Given the description of an element on the screen output the (x, y) to click on. 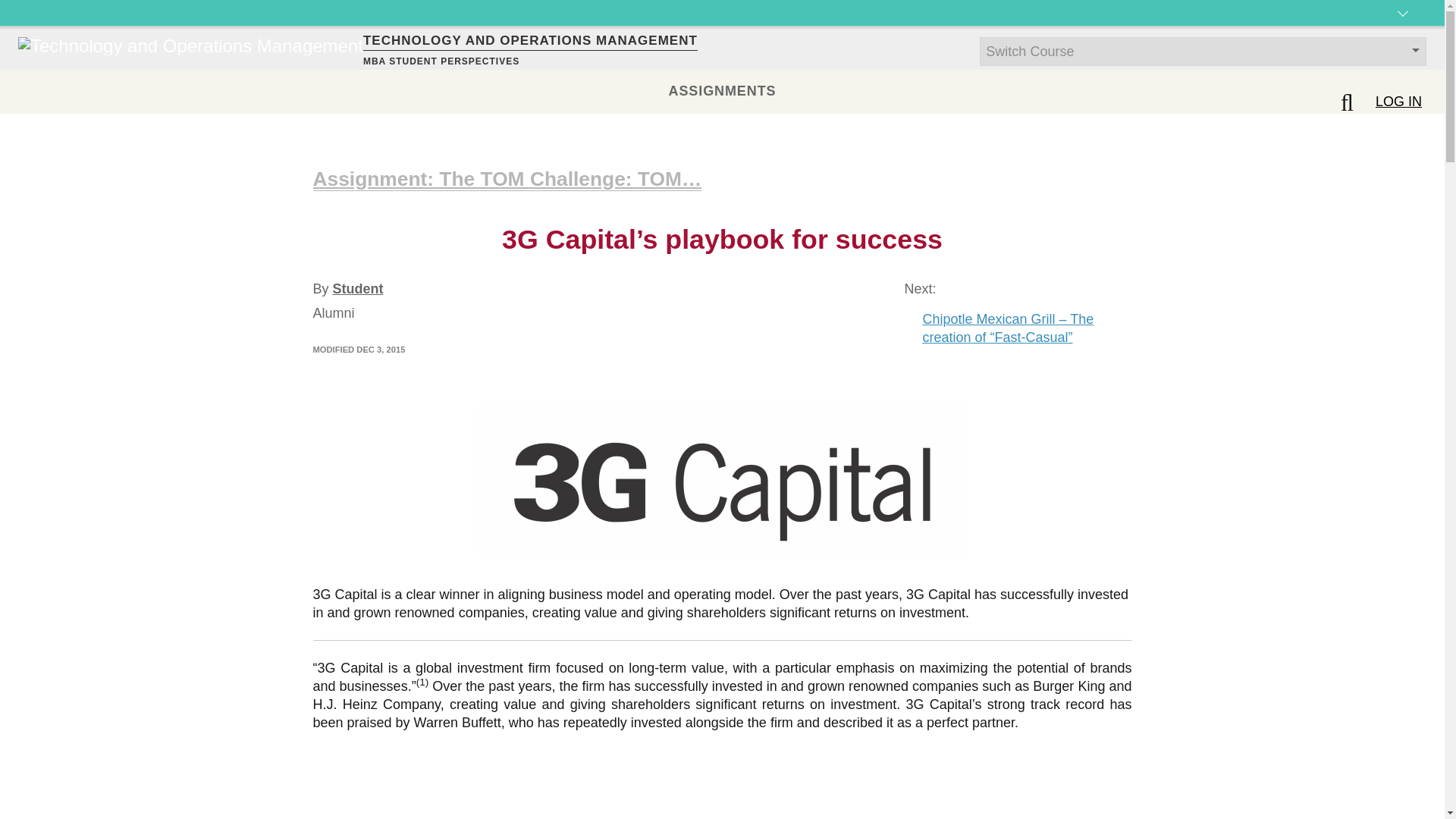
Expand. (1403, 26)
ASSIGNMENTS (722, 90)
Student (358, 288)
LOG IN (1398, 101)
Go (18, 9)
